Given the description of an element on the screen output the (x, y) to click on. 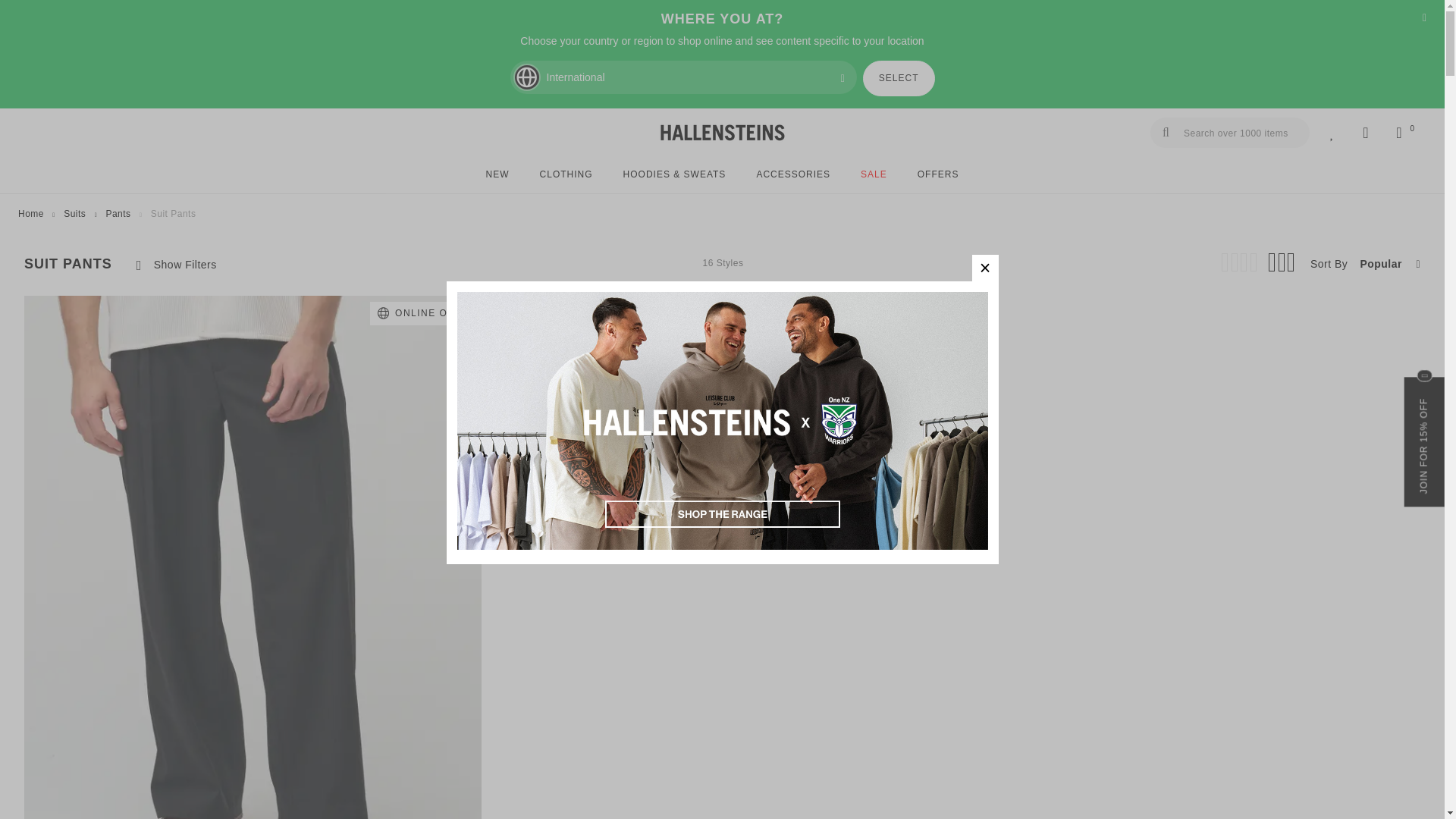
0 (1397, 132)
Wishlist (1332, 132)
International (682, 77)
CLOTHING (566, 175)
NEW (497, 175)
SELECT (898, 78)
ONE NZ WARRIORS X HALLENSTEINS (722, 545)
